Given the description of an element on the screen output the (x, y) to click on. 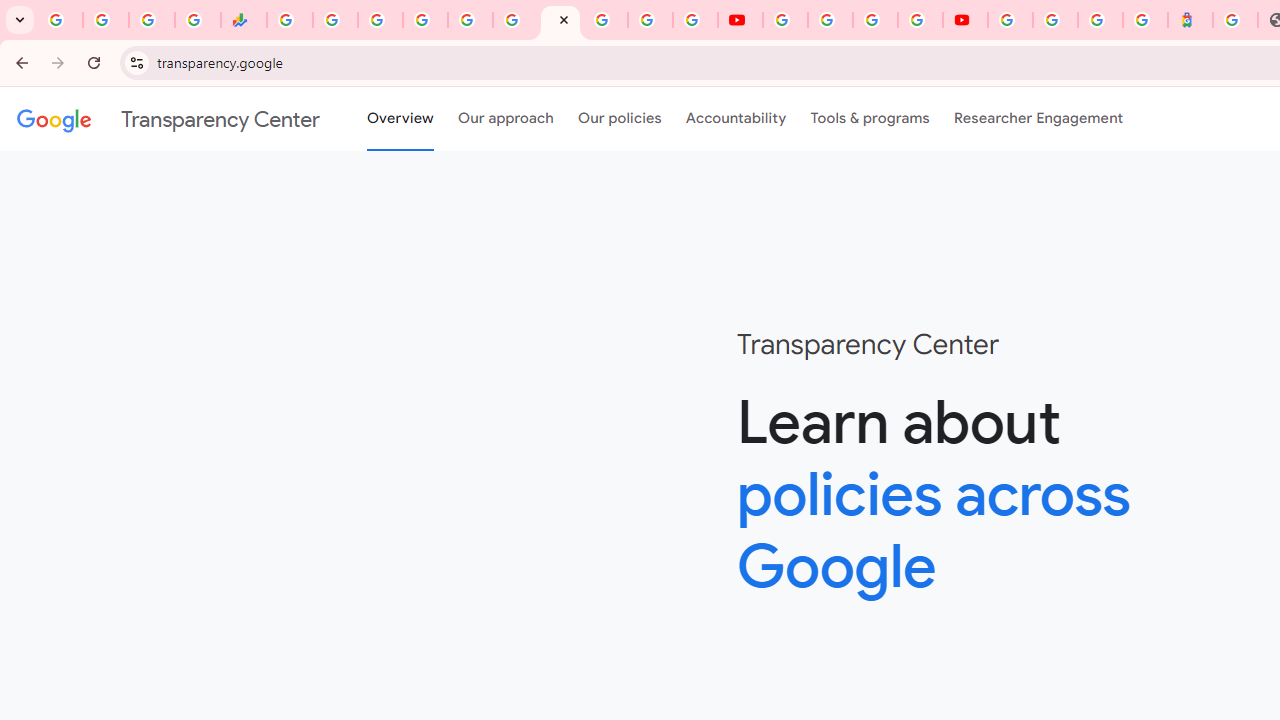
YouTube (740, 20)
Atour Hotel - Google hotels (1190, 20)
Our policies (619, 119)
Sign in - Google Accounts (605, 20)
Accountability (735, 119)
Google Account Help (829, 20)
